Given the description of an element on the screen output the (x, y) to click on. 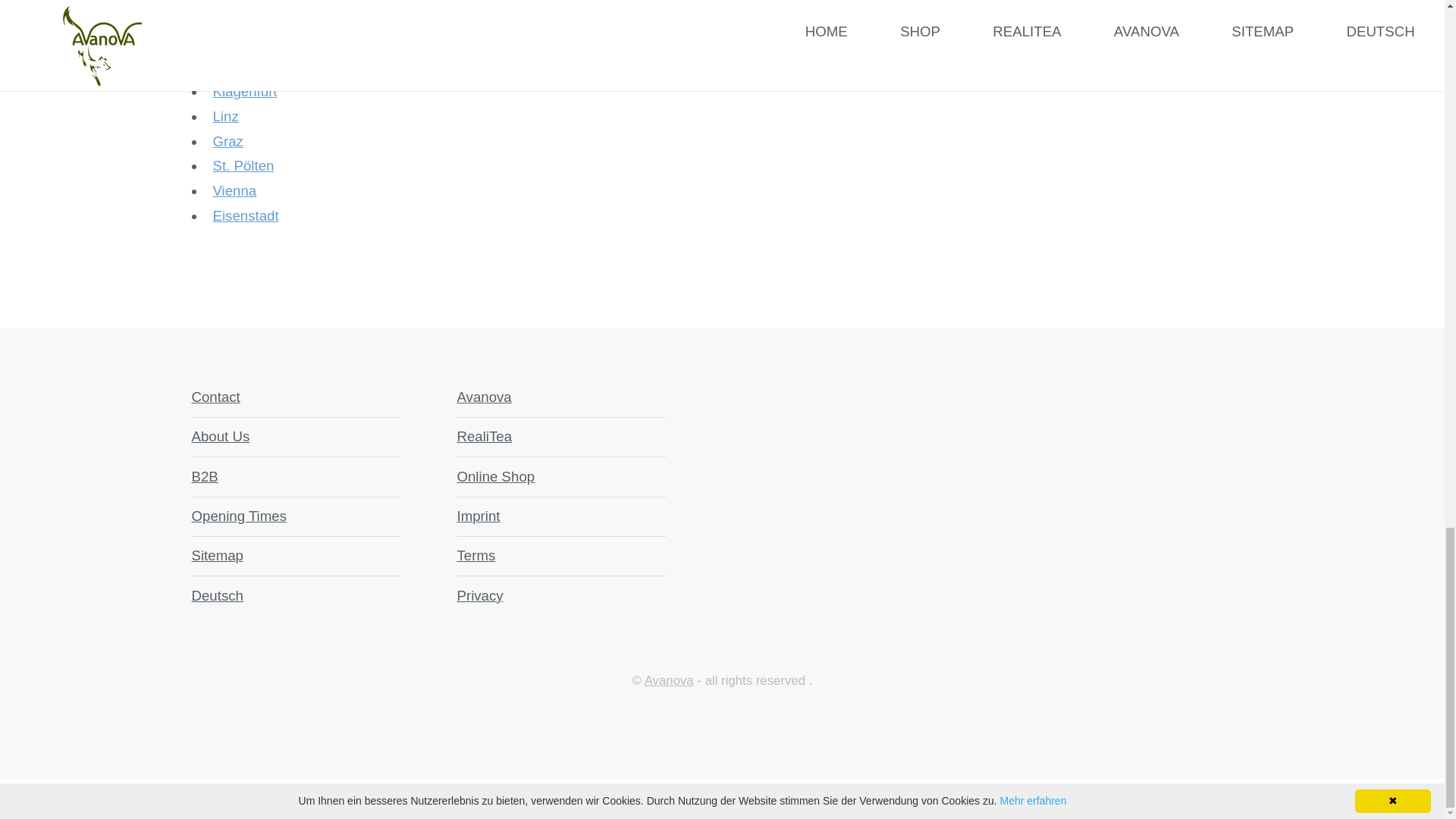
Klagenfurt (244, 91)
Sitemap (216, 555)
About Us (219, 436)
Imprint (478, 515)
Avanova (669, 680)
Online Shop (495, 476)
Eisenstadt (245, 215)
Opening Times (237, 515)
Contact (215, 396)
Vienna (234, 190)
Deutsch (216, 595)
Terms (476, 555)
Salzburg (239, 66)
Avanova (484, 396)
B2B (203, 476)
